Given the description of an element on the screen output the (x, y) to click on. 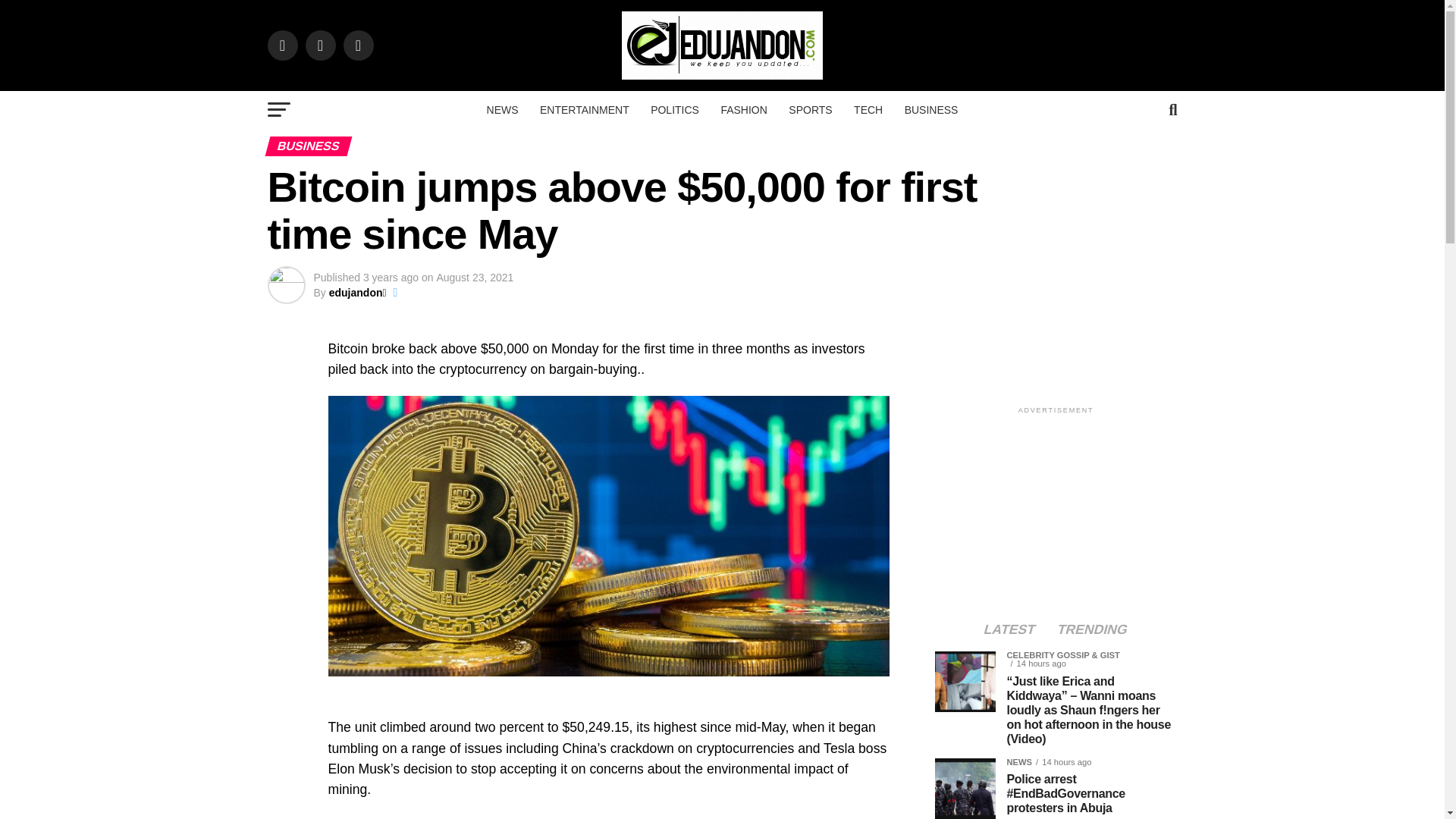
POLITICS (674, 109)
FASHION (743, 109)
ENTERTAINMENT (585, 109)
NEWS (502, 109)
